Given the description of an element on the screen output the (x, y) to click on. 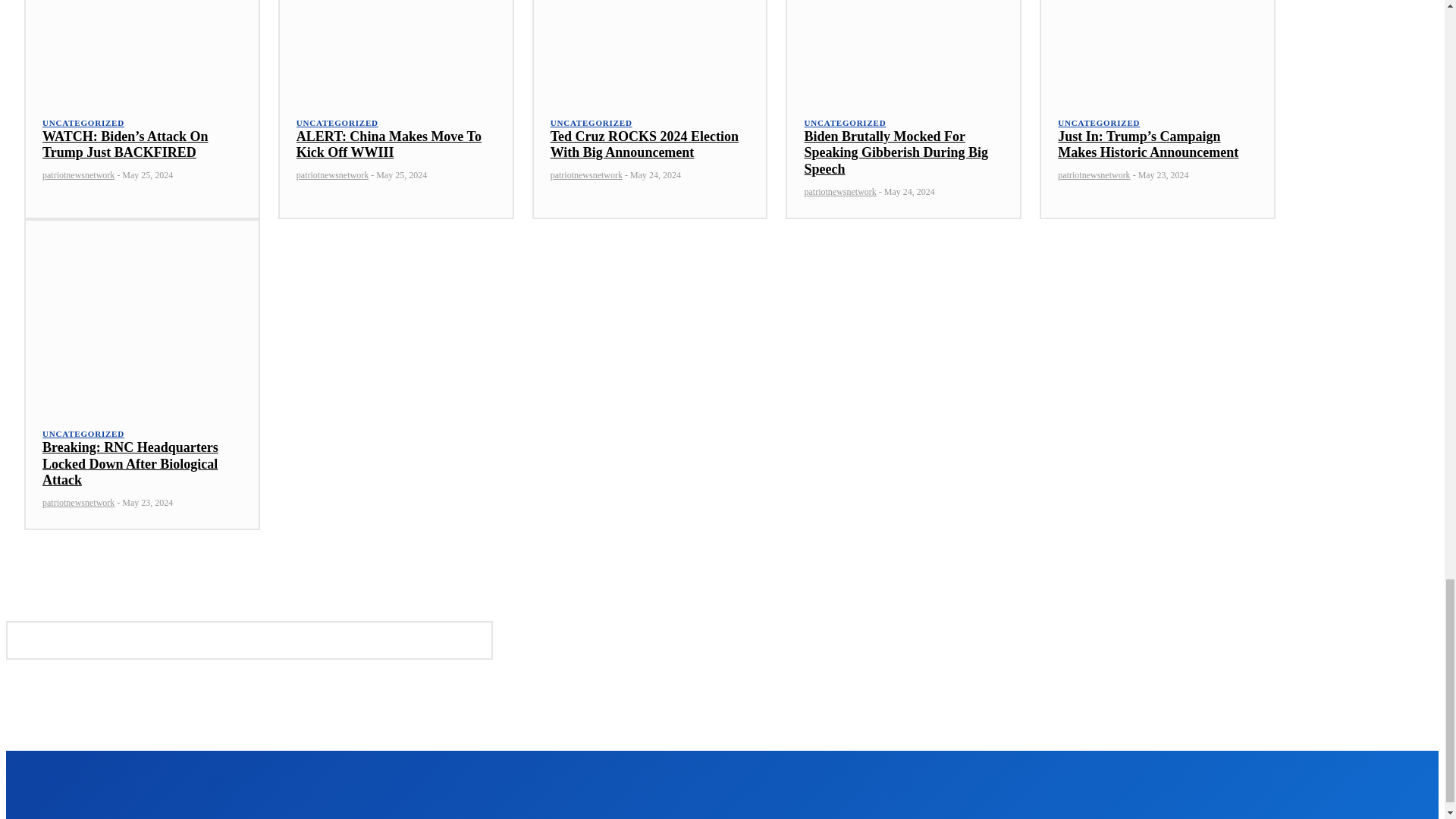
ALERT: China Makes Move To Kick Off WWIII (389, 144)
UNCATEGORIZED (337, 122)
patriotnewsnetwork (332, 174)
Ted Cruz ROCKS 2024 Election With Big Announcement (650, 47)
UNCATEGORIZED (82, 122)
patriotnewsnetwork (78, 174)
patriotnewsnetwork (586, 174)
UNCATEGORIZED (590, 122)
Ted Cruz ROCKS 2024 Election With Big Announcement (644, 144)
